Given the description of an element on the screen output the (x, y) to click on. 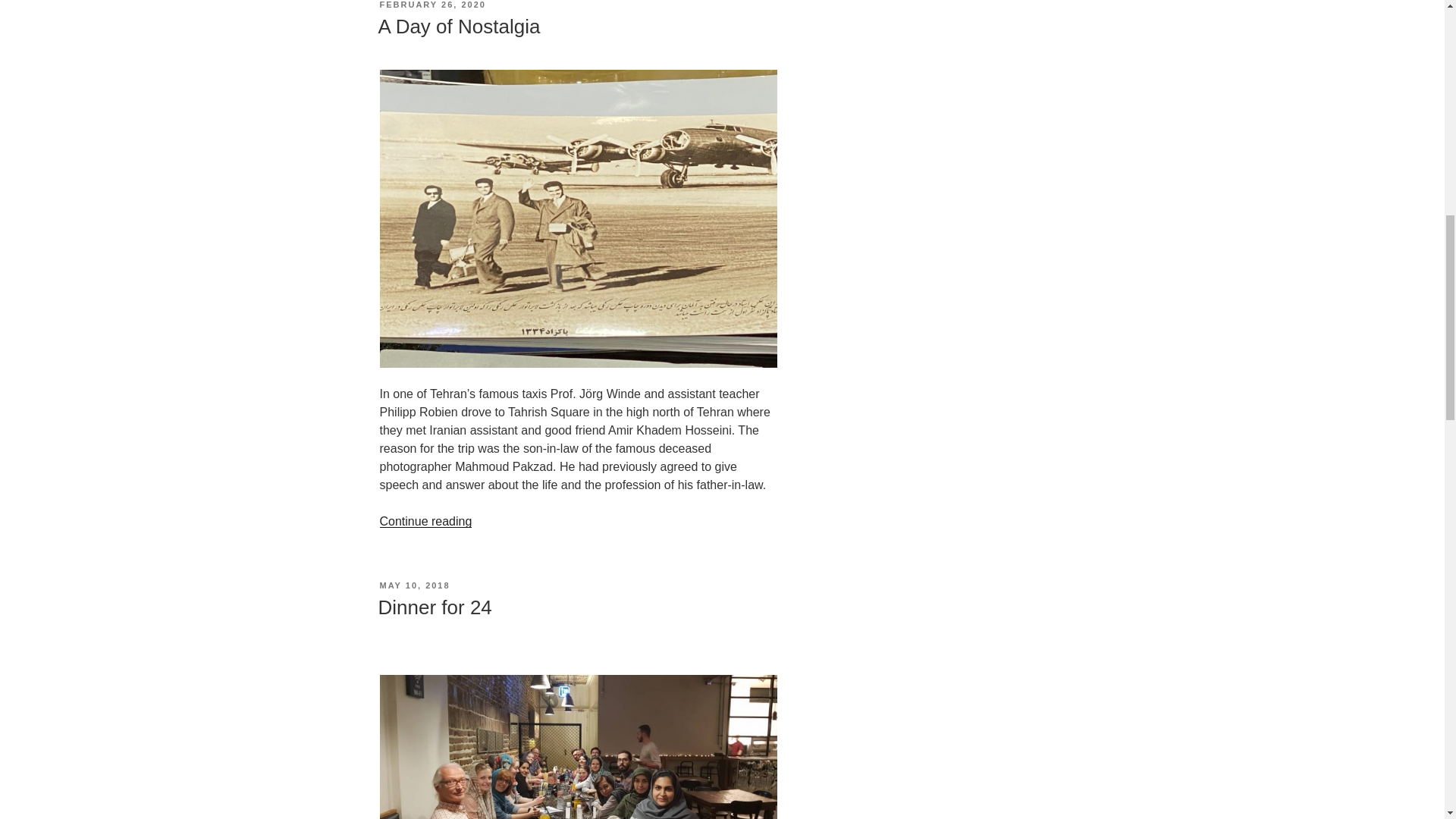
A Day of Nostalgia (458, 26)
MAY 10, 2018 (413, 584)
Dinner for 24 (434, 607)
FEBRUARY 26, 2020 (431, 4)
